Given the description of an element on the screen output the (x, y) to click on. 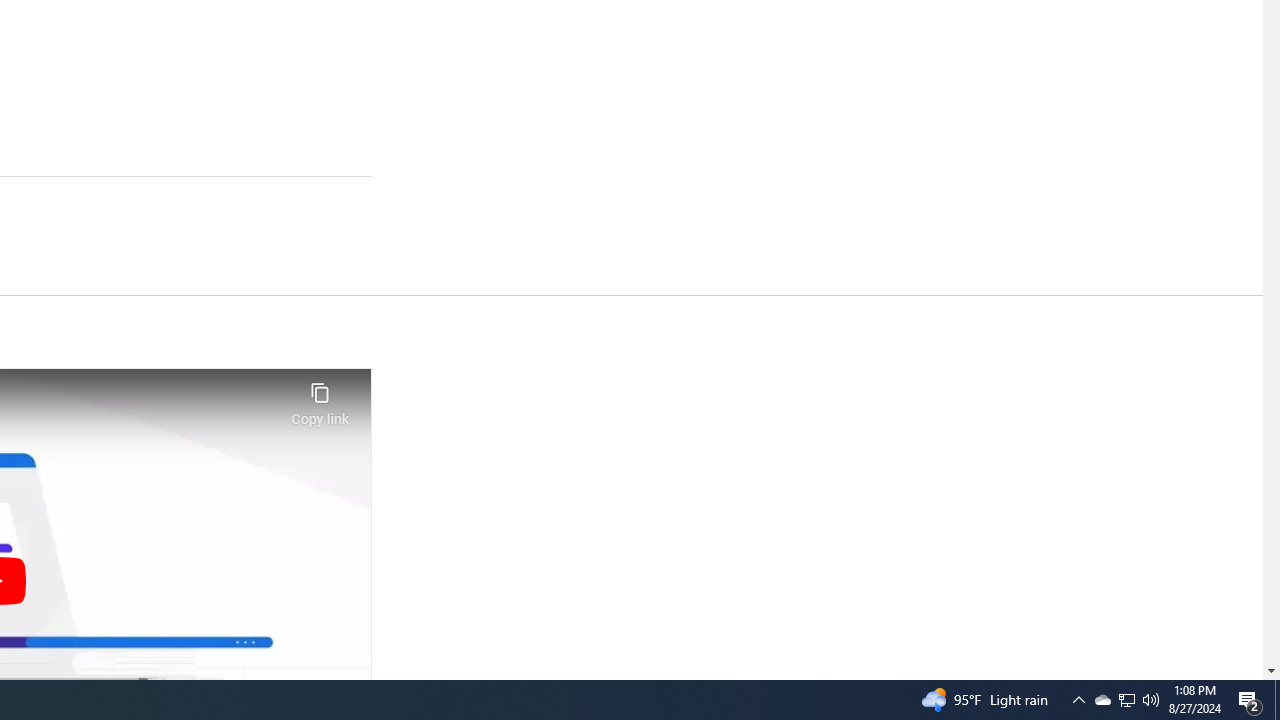
Copy link (319, 398)
